Given the description of an element on the screen output the (x, y) to click on. 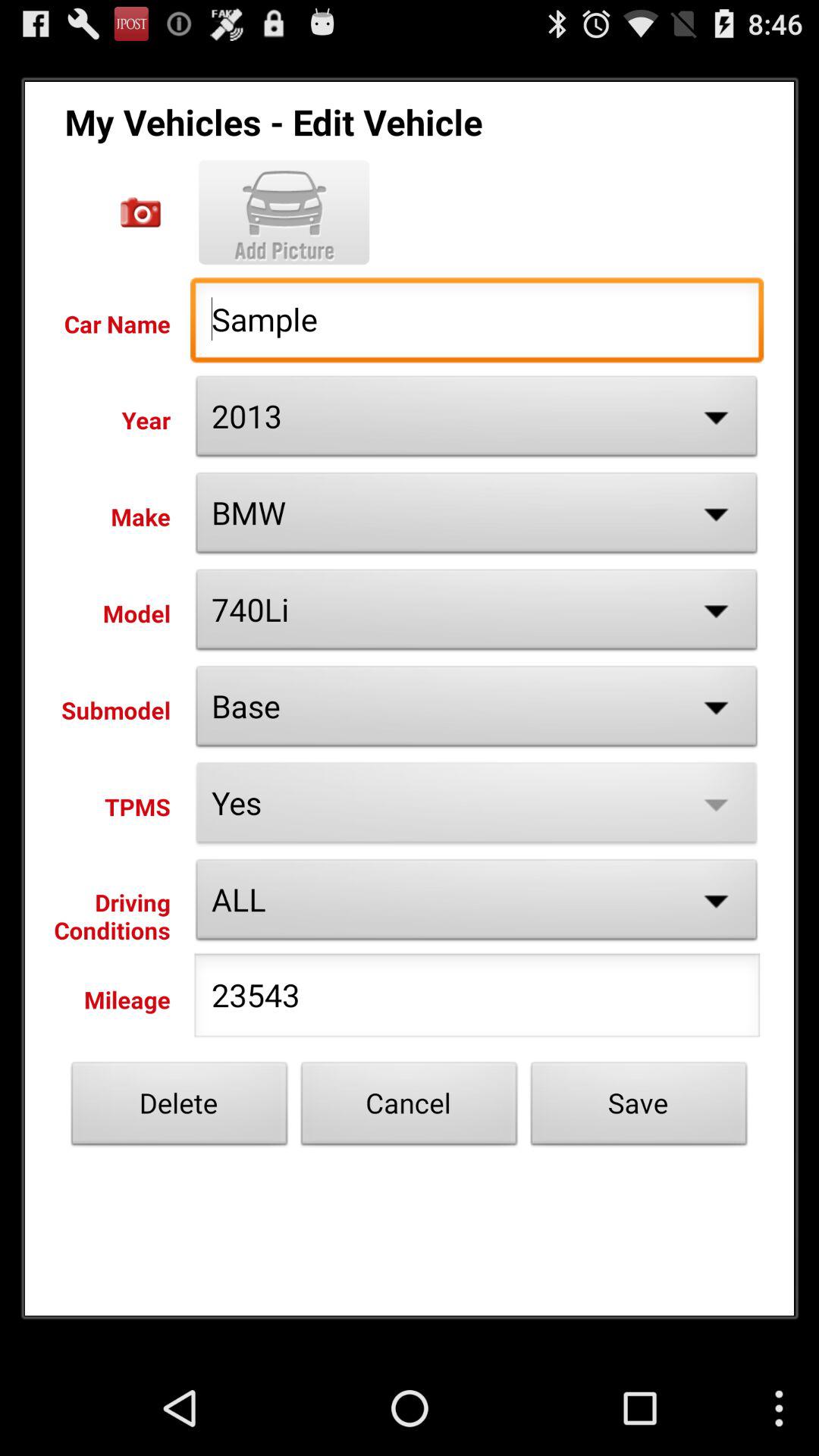
add picture (140, 212)
